Given the description of an element on the screen output the (x, y) to click on. 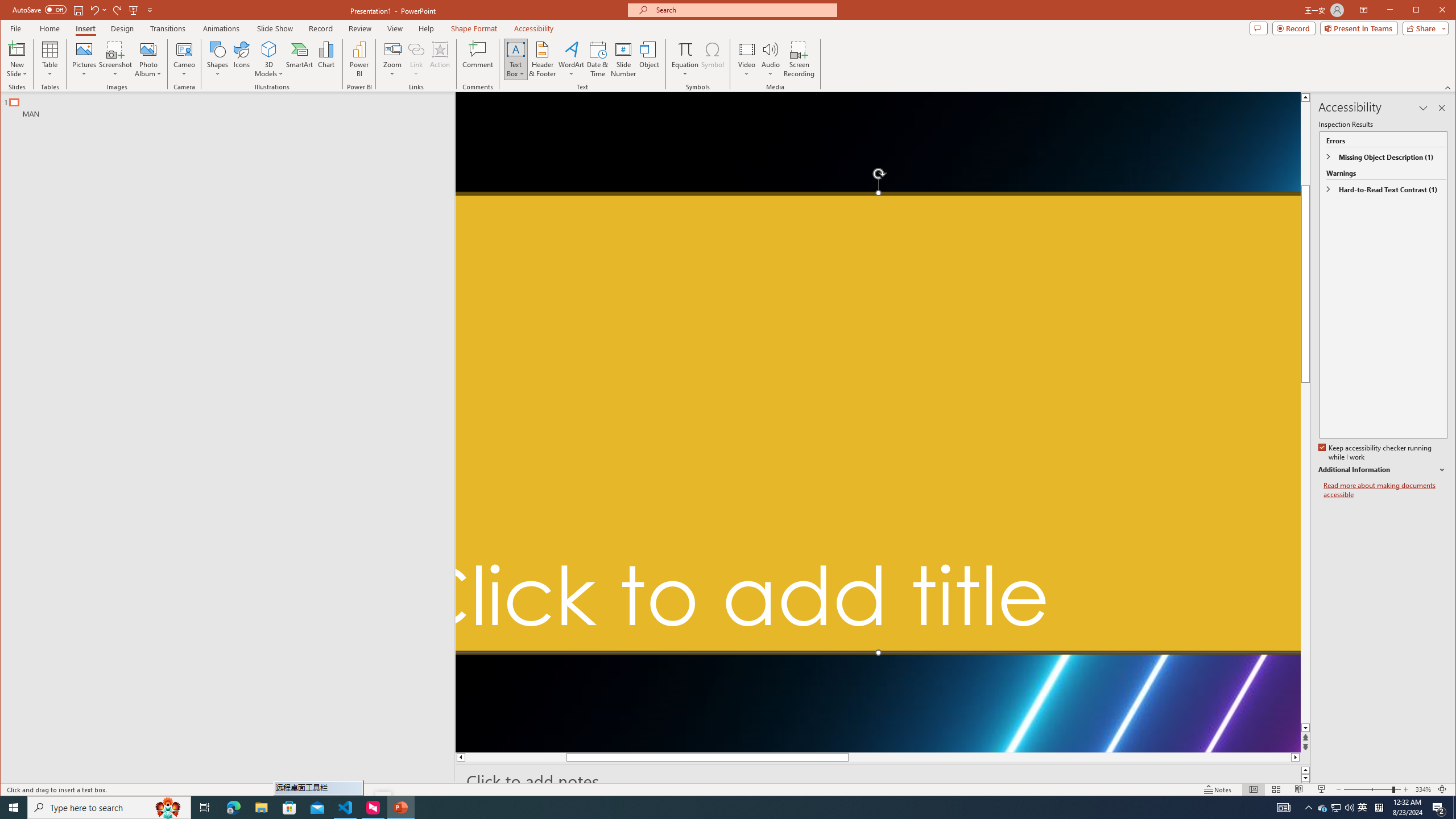
SmartArt... (299, 59)
WordArt (571, 59)
Date & Time... (597, 59)
Screen Recording... (799, 59)
